Given the description of an element on the screen output the (x, y) to click on. 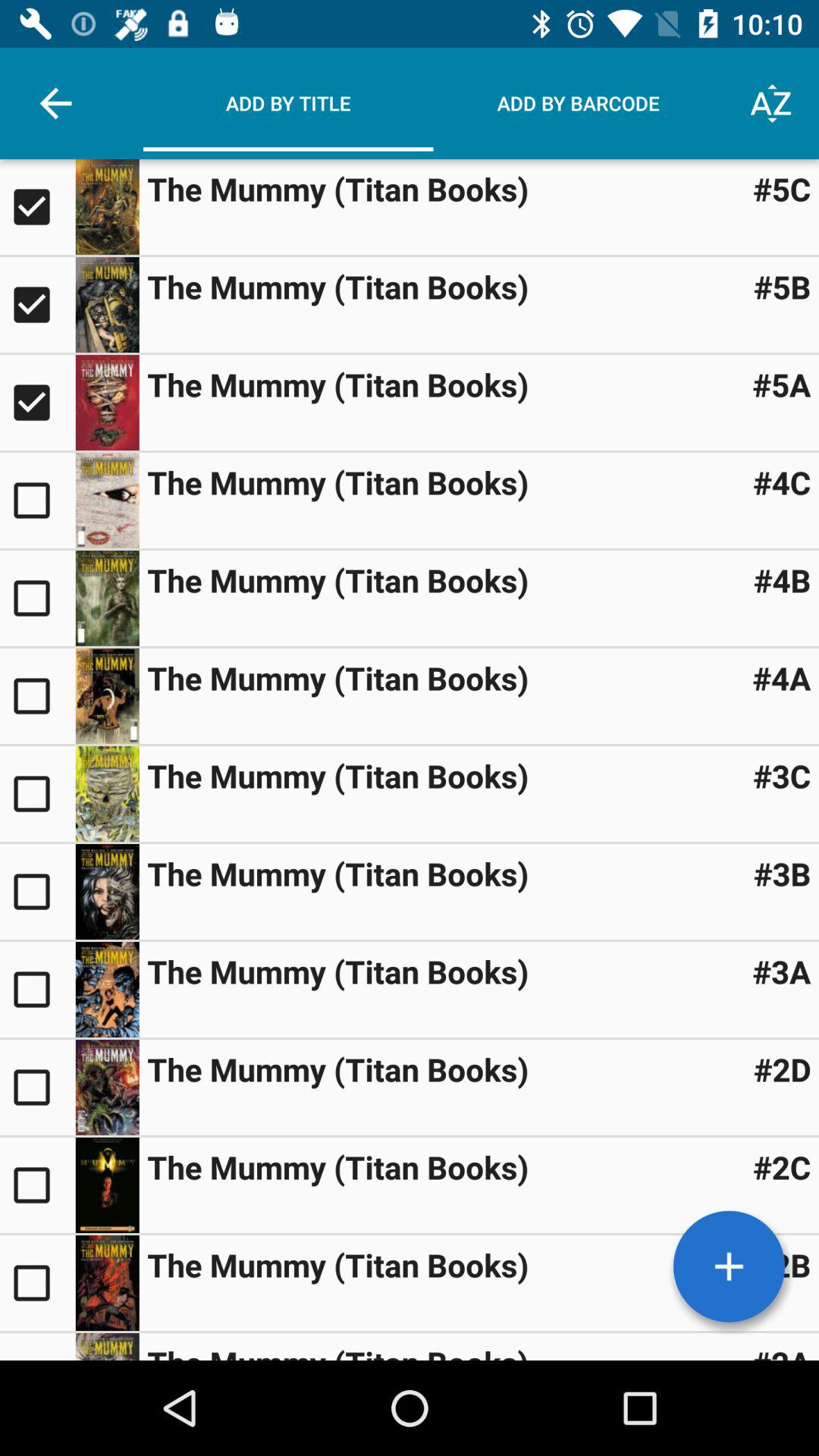
choose the mummy 3c (37, 793)
